Given the description of an element on the screen output the (x, y) to click on. 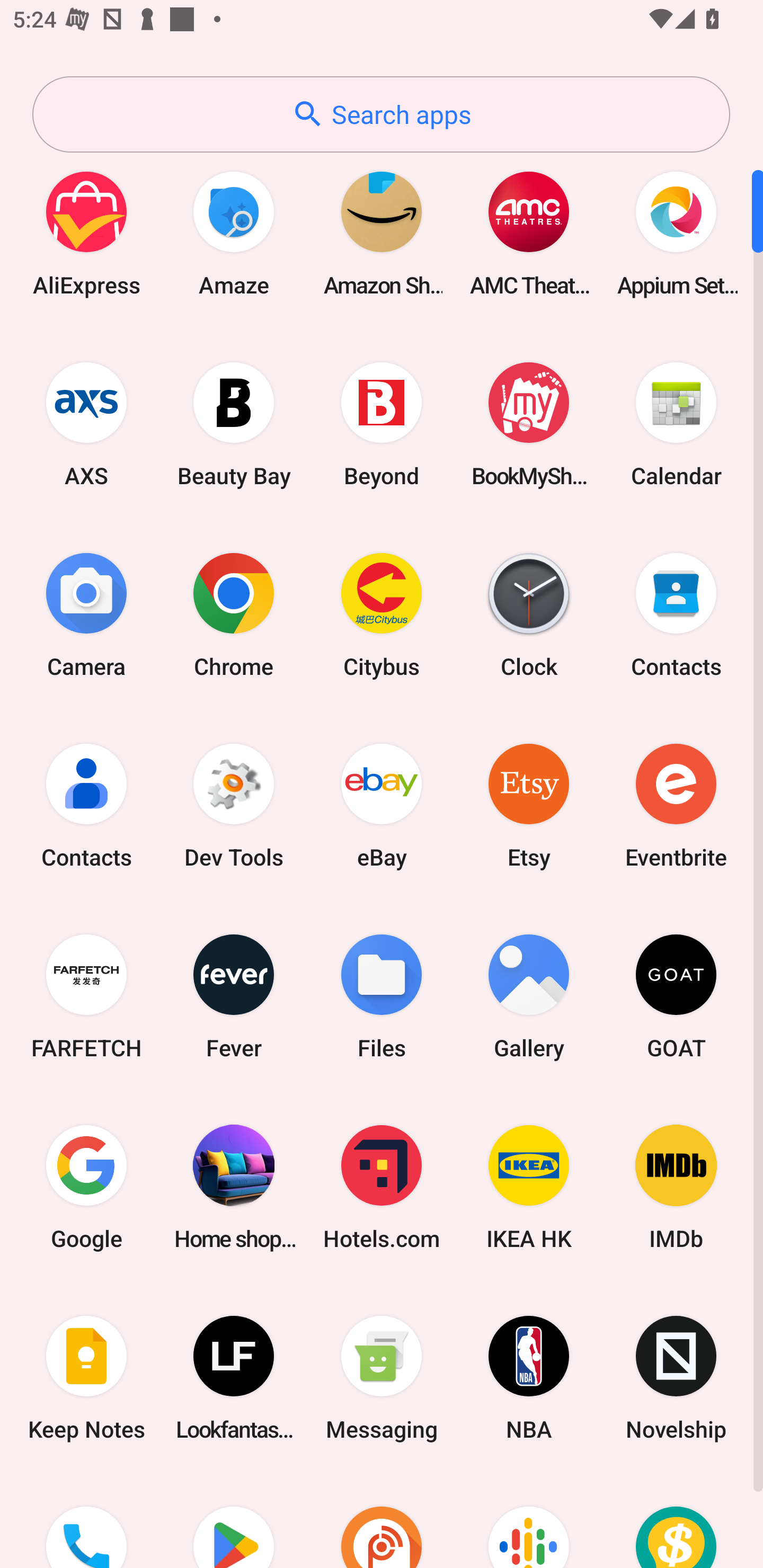
  Search apps (381, 114)
AliExpress (86, 233)
Amaze (233, 233)
Amazon Shopping (381, 233)
AMC Theatres (528, 233)
Appium Settings (676, 233)
AXS (86, 424)
Beauty Bay (233, 424)
Beyond (381, 424)
BookMyShow (528, 424)
Calendar (676, 424)
Camera (86, 614)
Chrome (233, 614)
Citybus (381, 614)
Clock (528, 614)
Contacts (676, 614)
Contacts (86, 805)
Dev Tools (233, 805)
eBay (381, 805)
Etsy (528, 805)
Eventbrite (676, 805)
FARFETCH (86, 996)
Fever (233, 996)
Files (381, 996)
Gallery (528, 996)
GOAT (676, 996)
Google (86, 1186)
Home shopping (233, 1186)
Hotels.com (381, 1186)
IKEA HK (528, 1186)
IMDb (676, 1186)
Keep Notes (86, 1377)
Lookfantastic (233, 1377)
Messaging (381, 1377)
NBA (528, 1377)
Novelship (676, 1377)
Phone (86, 1520)
Play Store (233, 1520)
Podcast Addict (381, 1520)
Podcasts (528, 1520)
Price (676, 1520)
